Given the description of an element on the screen output the (x, y) to click on. 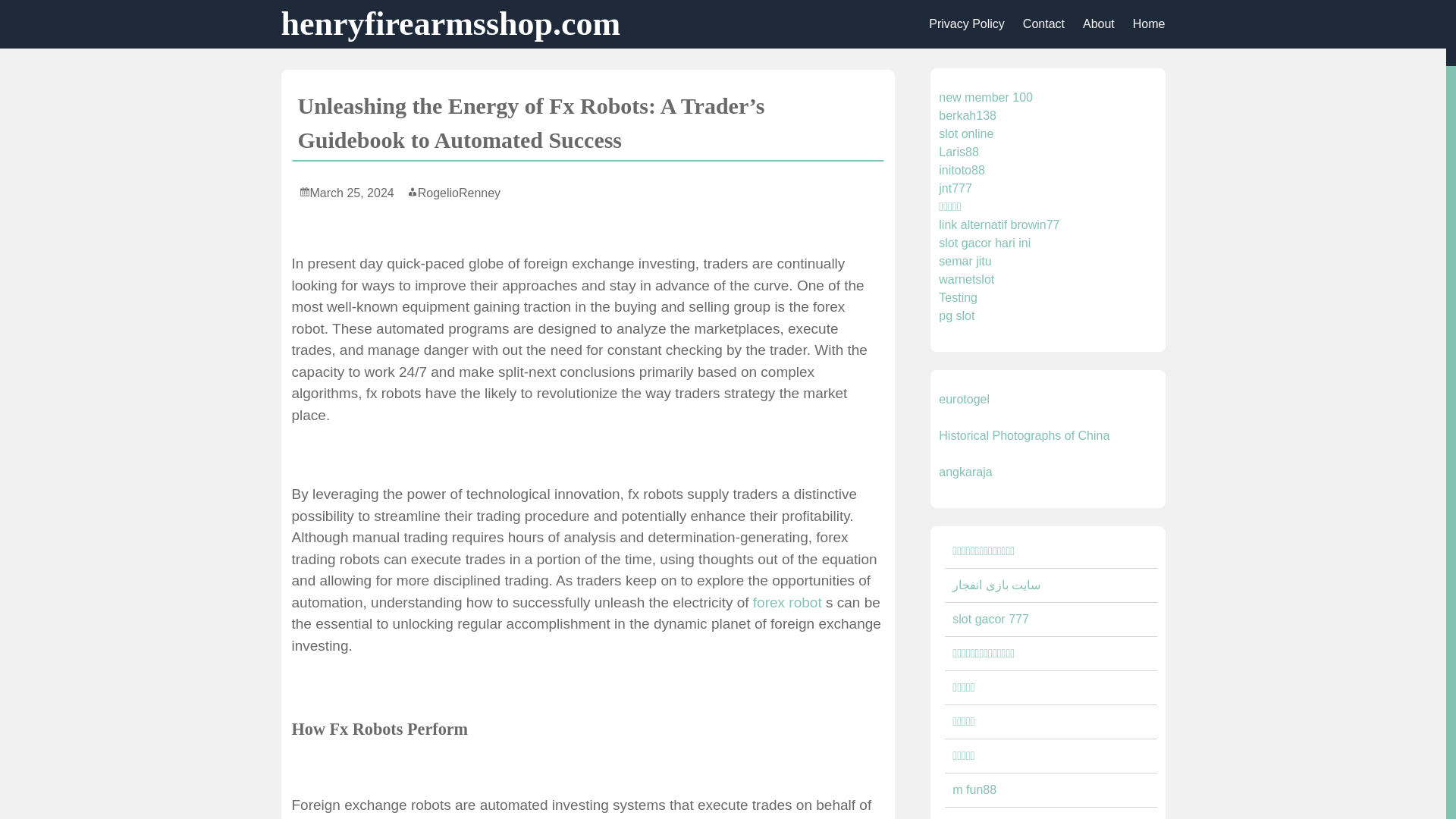
semar jitu (965, 260)
warnetslot (966, 278)
forex robot (787, 602)
pg slot (956, 315)
initoto88 (962, 169)
eurotogel (964, 399)
slot gacor 777 (990, 618)
Home (1149, 24)
berkah138 (967, 115)
angkaraja (965, 472)
jnt777 (955, 187)
RogelioRenney (453, 192)
Historical Photographs of China (1024, 435)
henryfirearmsshop.com (449, 24)
